Given the description of an element on the screen output the (x, y) to click on. 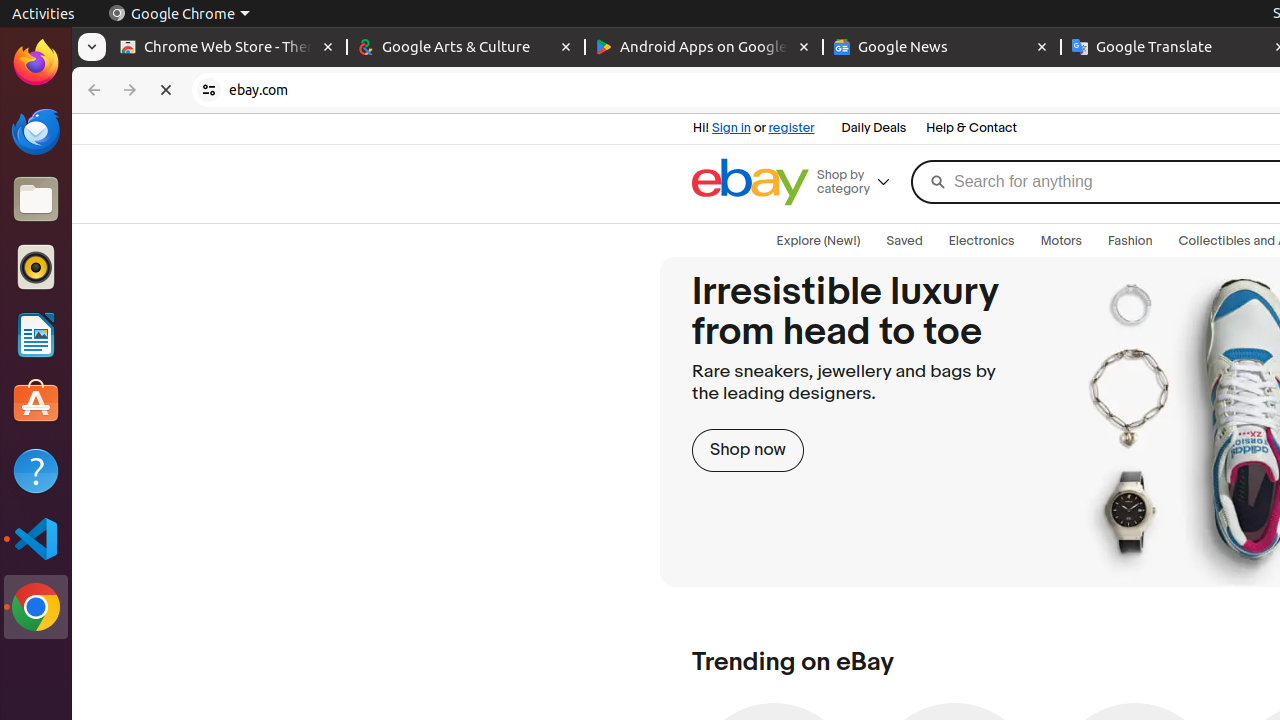
Electronics Element type: link (981, 241)
